Given the description of an element on the screen output the (x, y) to click on. 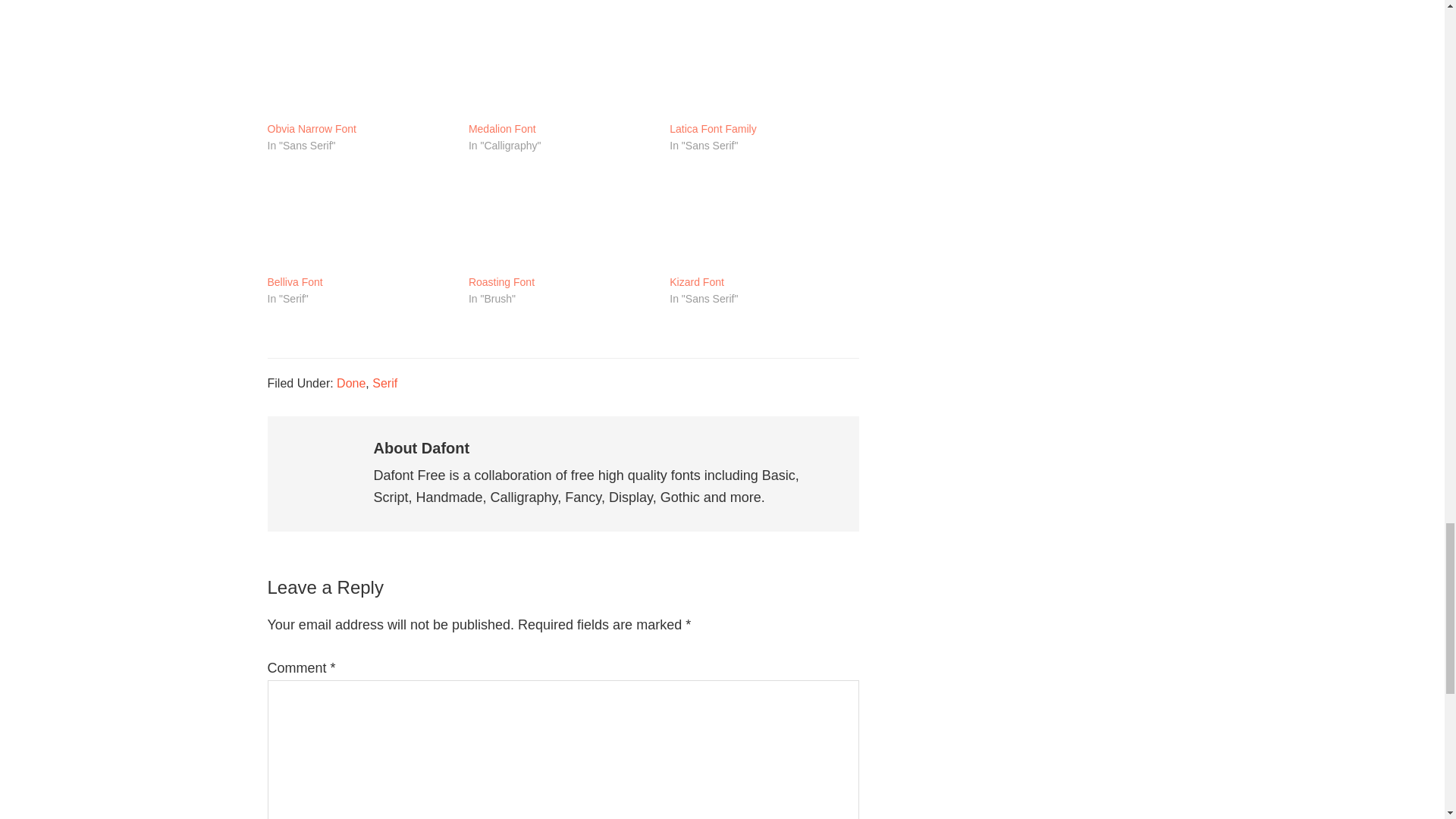
Latica Font Family (712, 129)
Kizard Font (762, 220)
Medalion Font (501, 129)
Belliva Font (293, 282)
Belliva Font (359, 220)
Kizard Font (696, 282)
Obvia Narrow Font (310, 129)
Obvia Narrow Font (359, 67)
Latica Font Family (762, 67)
Roasting Font (560, 220)
Medalion Font (560, 67)
Roasting Font (501, 282)
Serif (384, 382)
Done (350, 382)
